Given the description of an element on the screen output the (x, y) to click on. 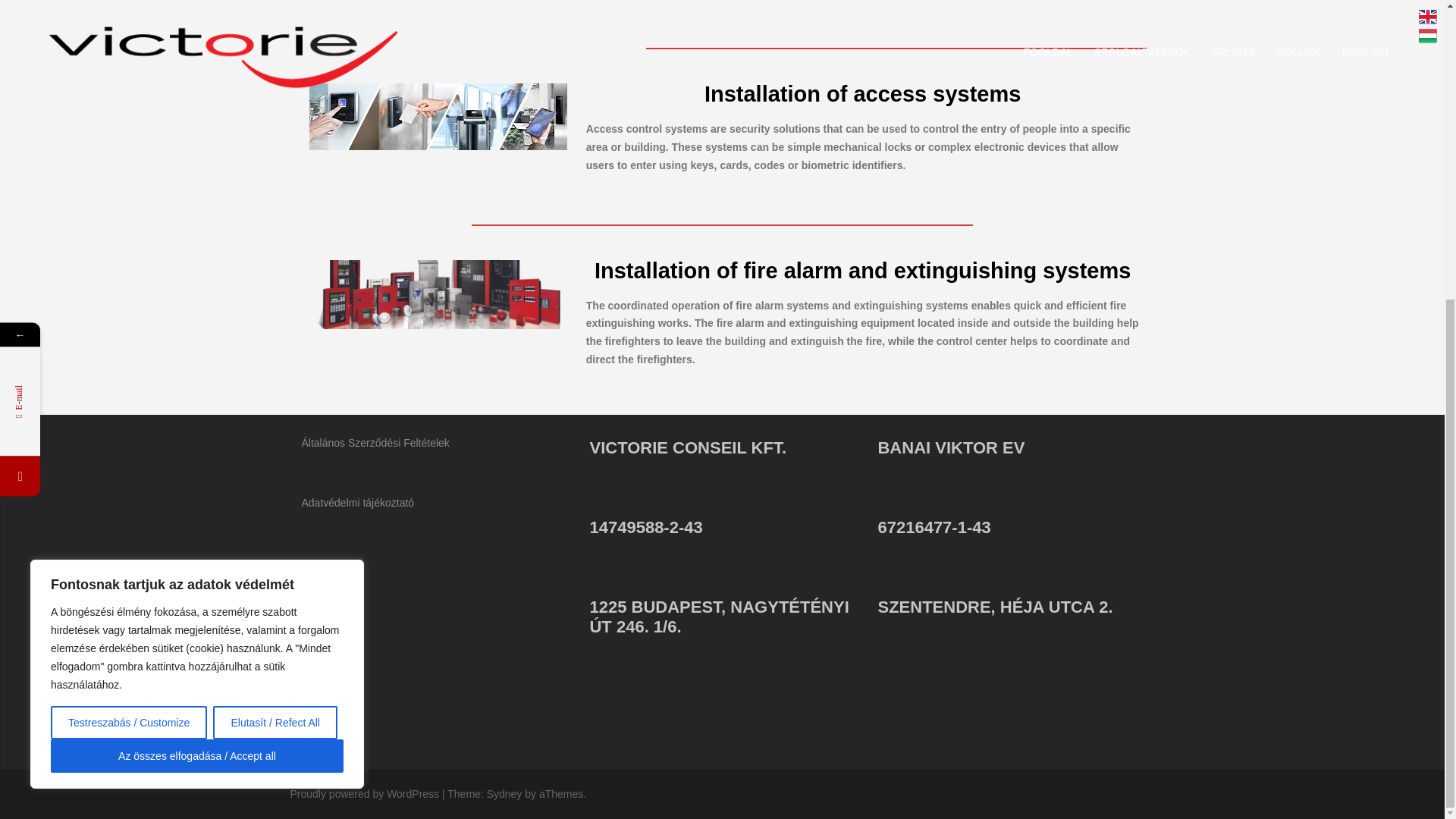
Proudly powered by WordPress (364, 793)
Phone (92, 15)
Phone (20, 15)
Sydney (504, 793)
